Given the description of an element on the screen output the (x, y) to click on. 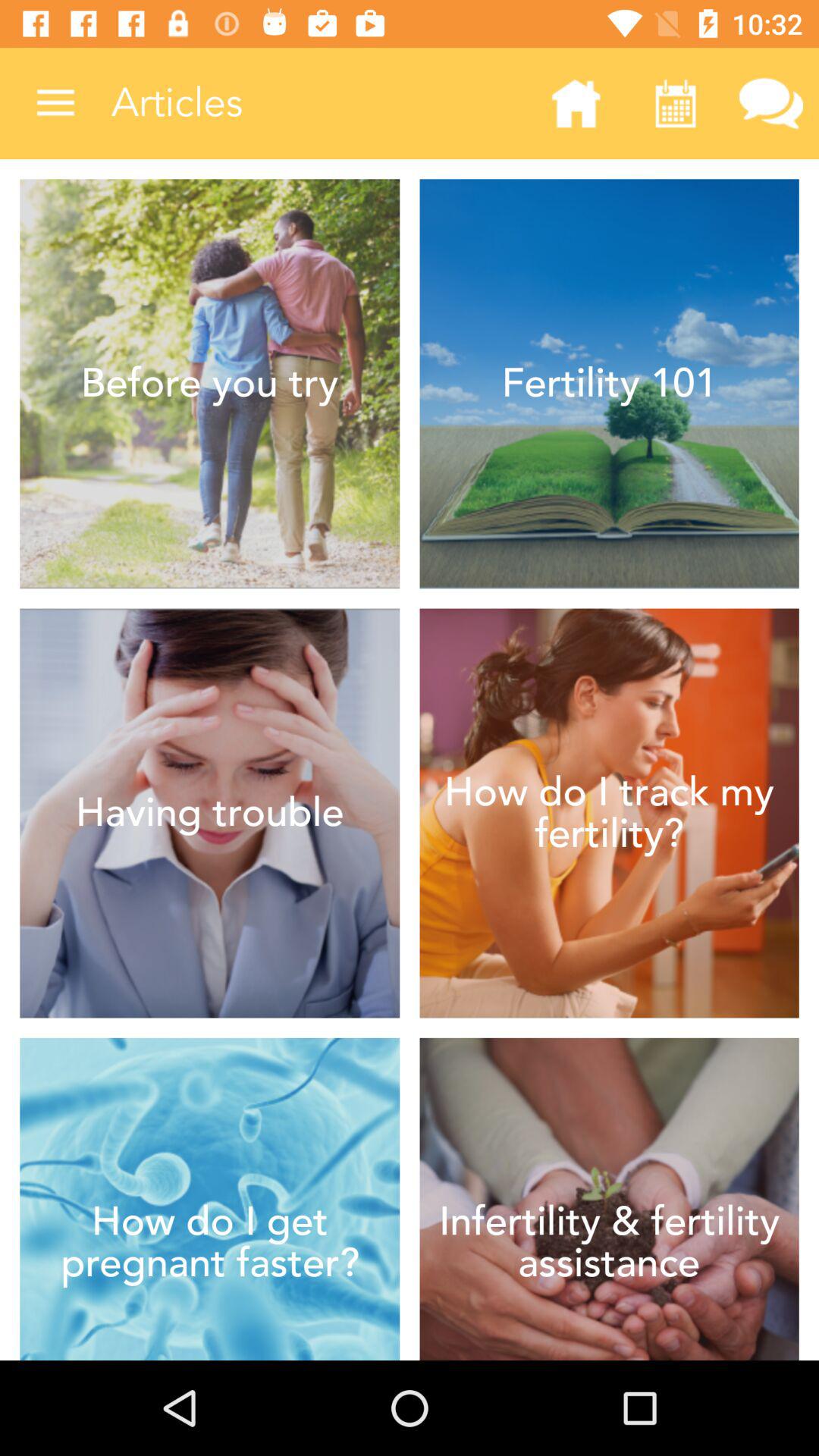
click articles item (317, 103)
